Given the description of an element on the screen output the (x, y) to click on. 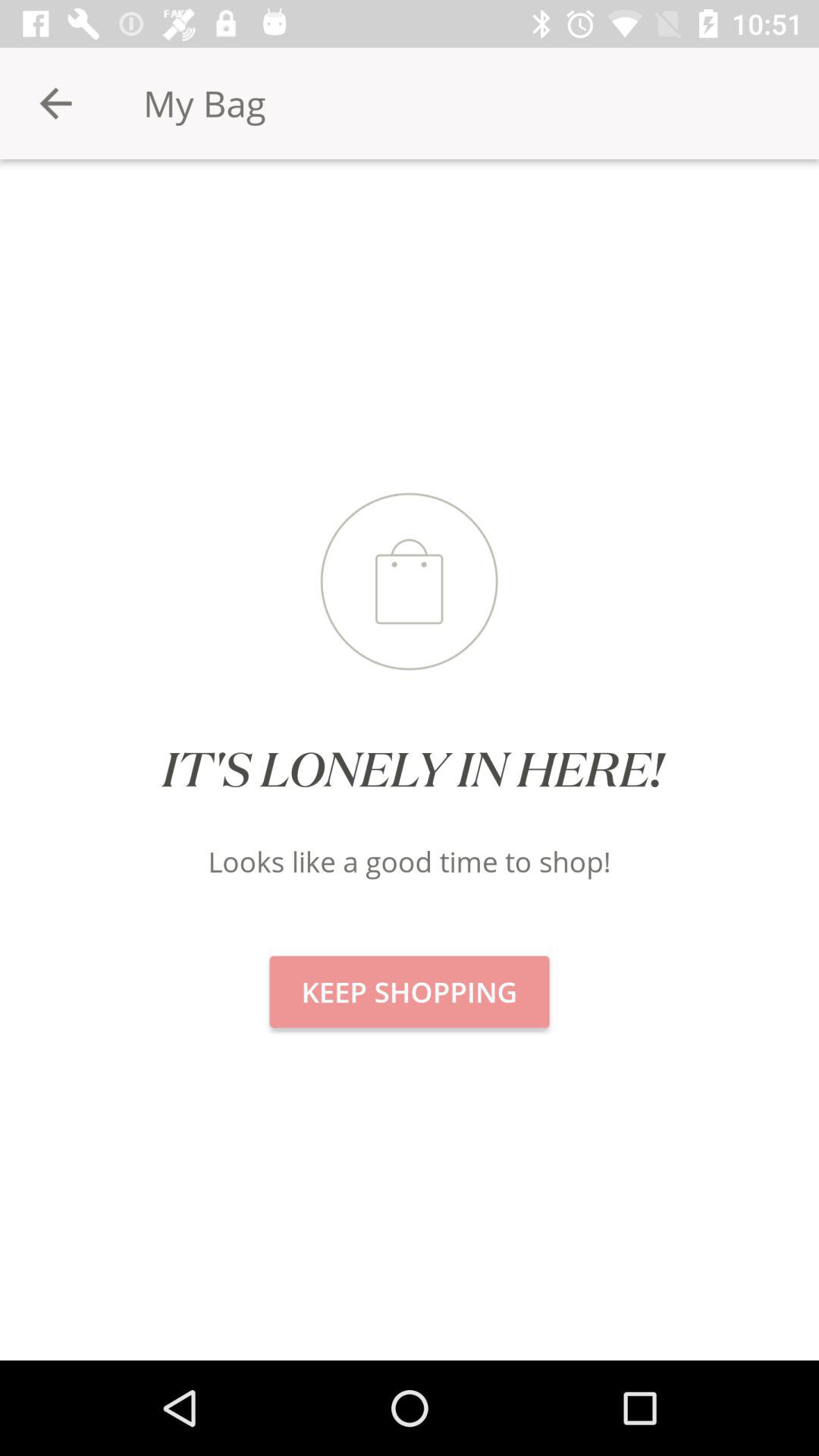
turn off the keep shopping icon (409, 991)
